Given the description of an element on the screen output the (x, y) to click on. 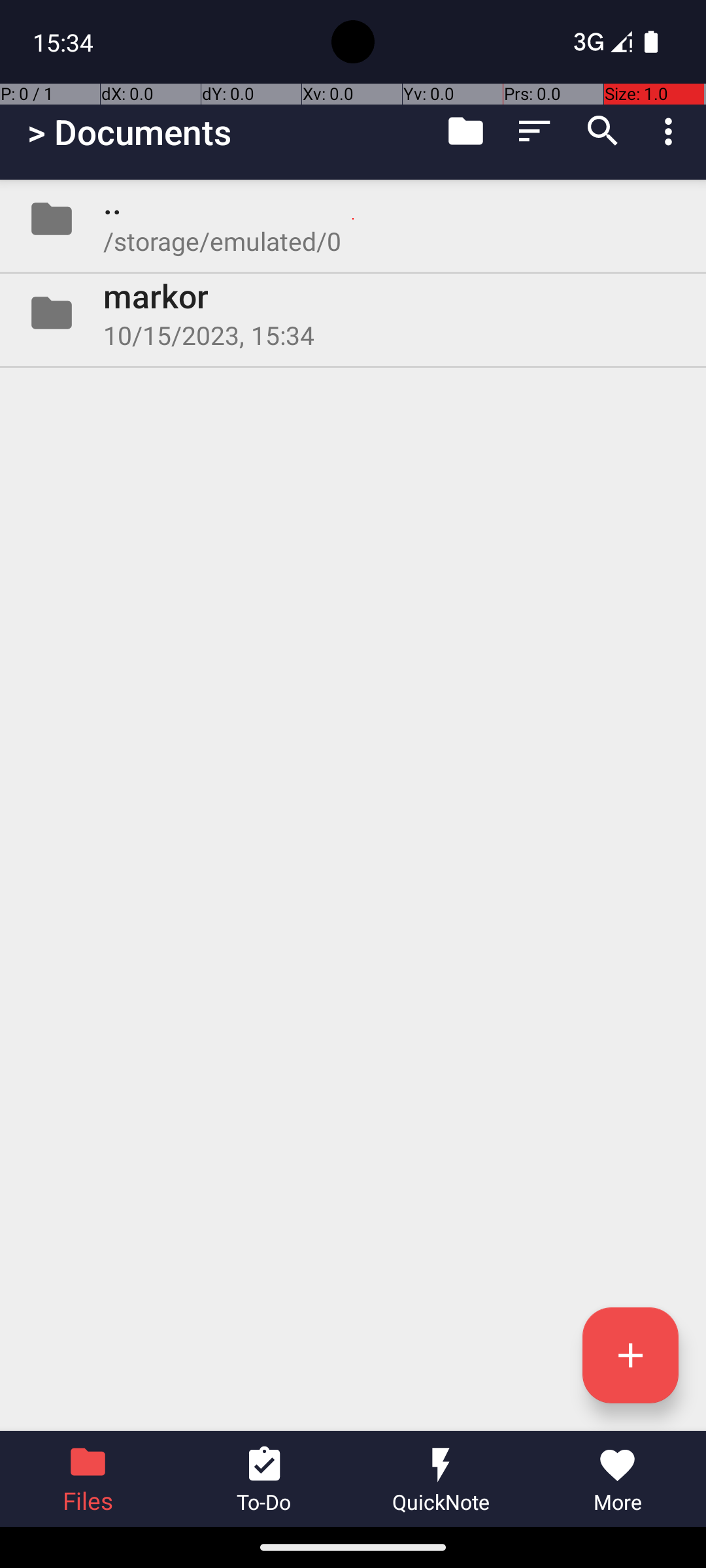
Folder markor  Element type: android.widget.LinearLayout (353, 312)
